Given the description of an element on the screen output the (x, y) to click on. 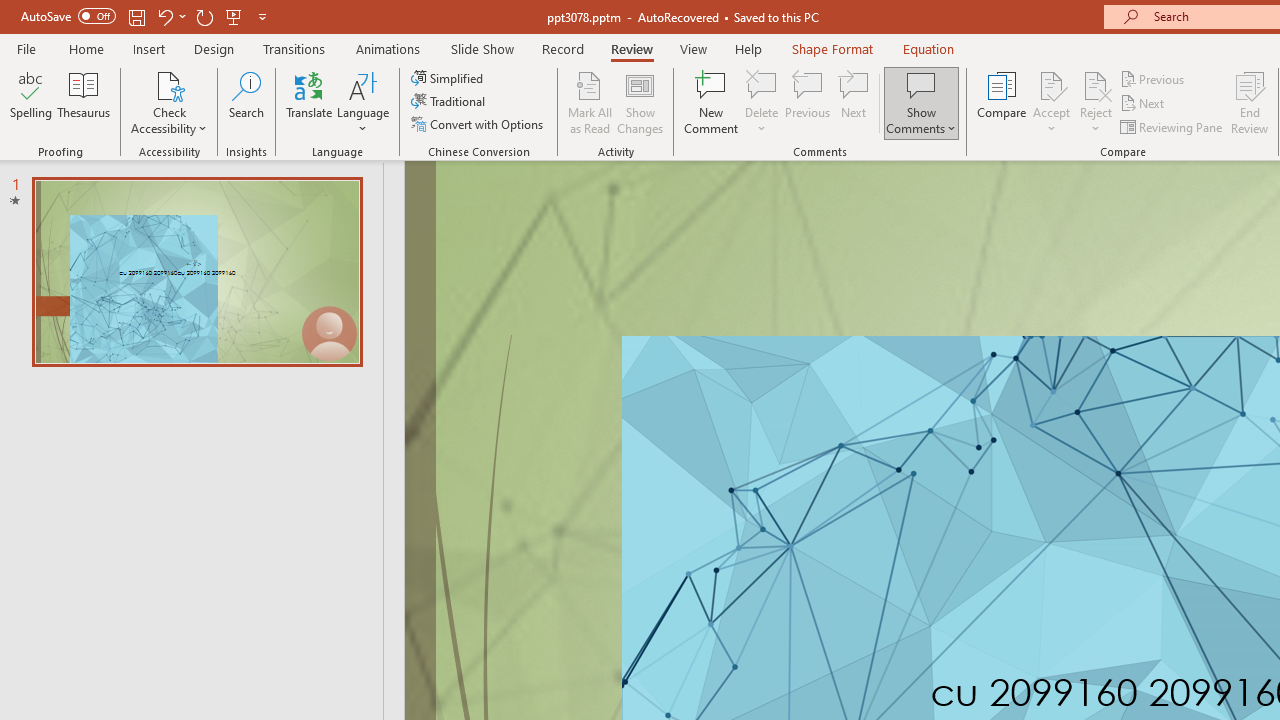
Convert with Options... (479, 124)
Show Changes (639, 102)
Compare (1002, 102)
